Given the description of an element on the screen output the (x, y) to click on. 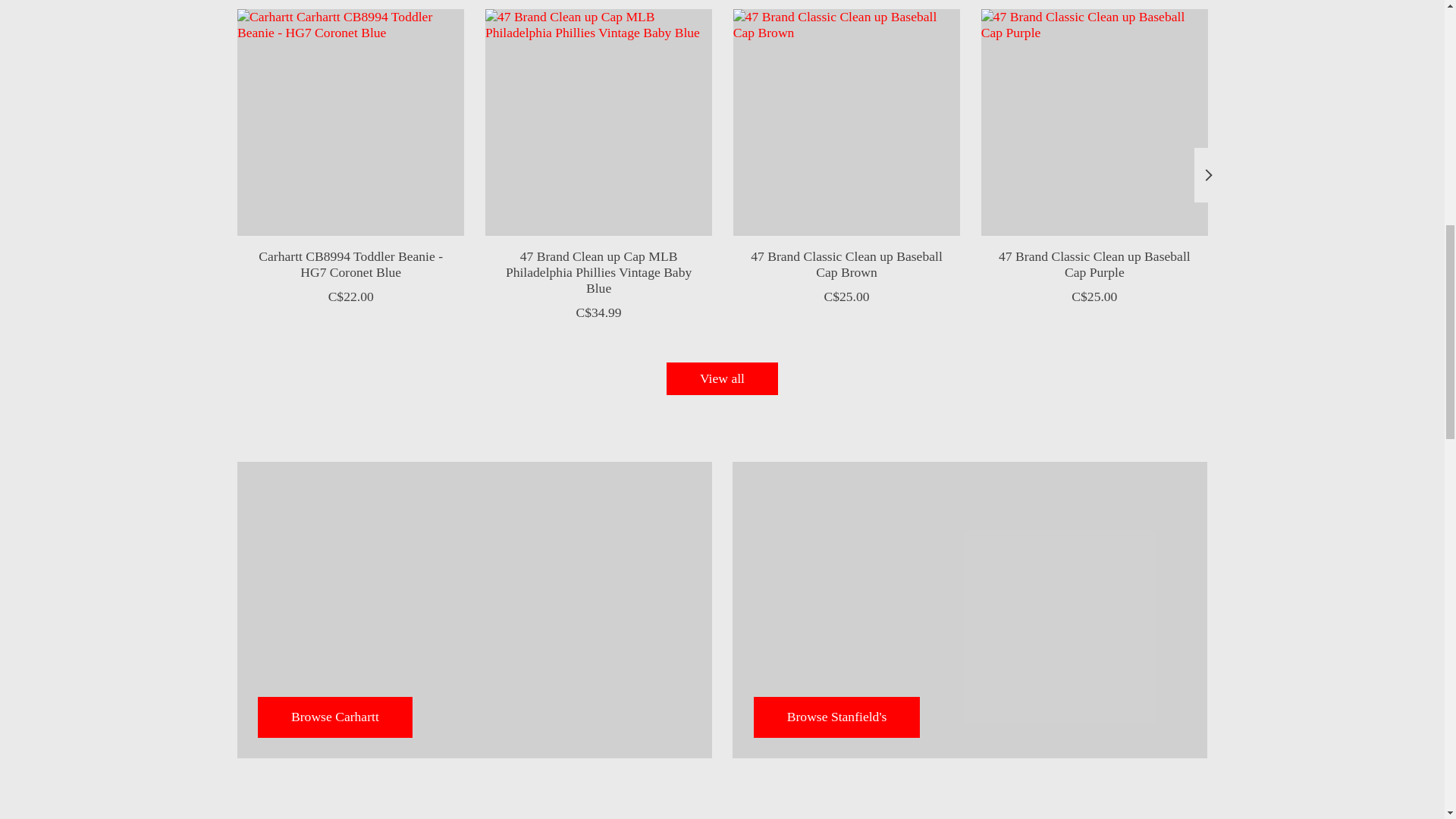
Carhartt Carhartt CB8994 Toddler Beanie - HG7 Coronet Blue (349, 122)
47 Brand Classic Clean up Baseball Cap Purple (1093, 122)
47 Brand Classic Clean up Baseball Cap Brown (845, 122)
